Given the description of an element on the screen output the (x, y) to click on. 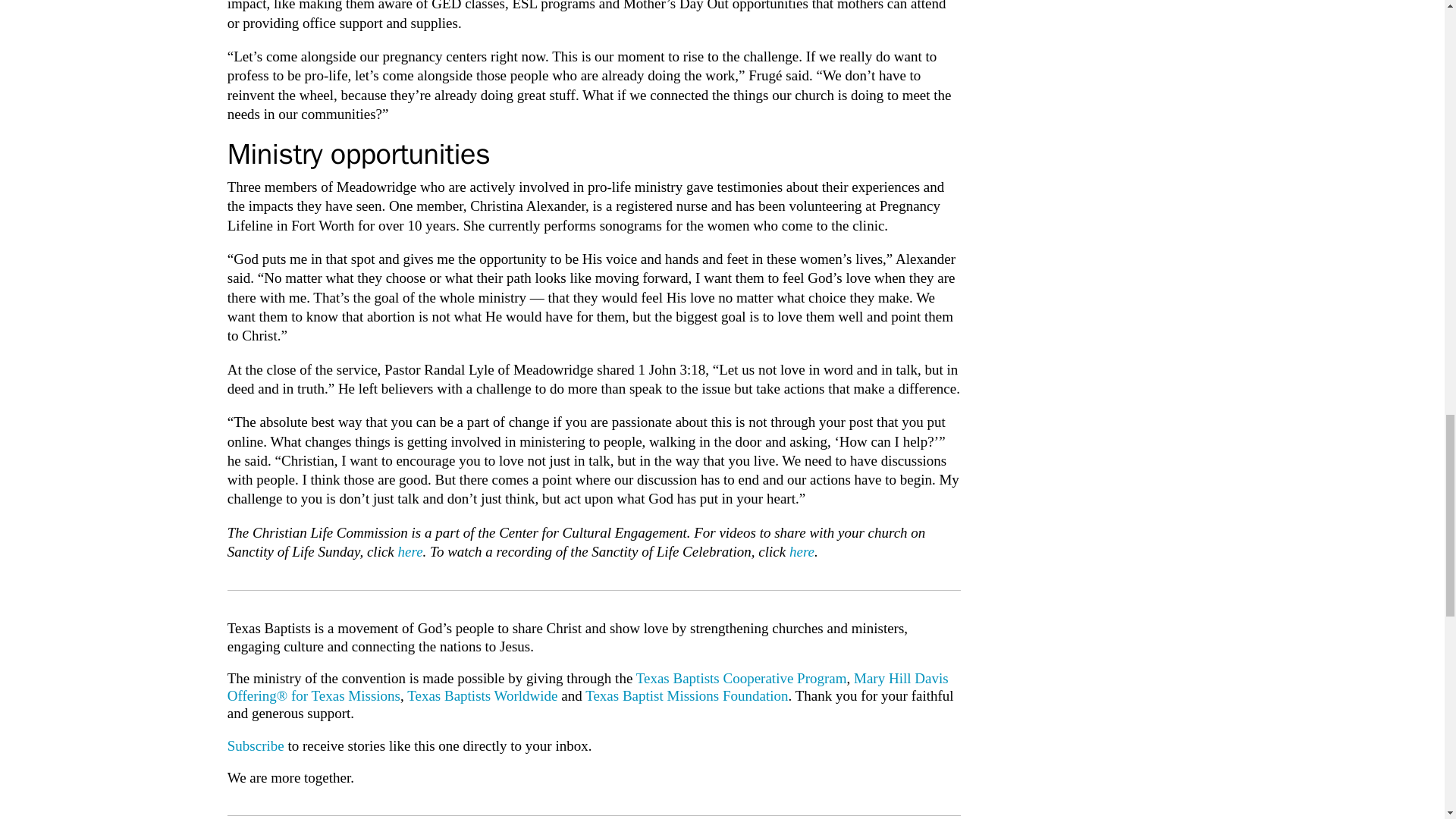
here (410, 551)
Subscribe (255, 745)
here (801, 551)
Texas Baptists Cooperative Program (741, 678)
Texas Baptists Worldwide (482, 695)
Texas Baptist Missions Foundation (686, 695)
